Given the description of an element on the screen output the (x, y) to click on. 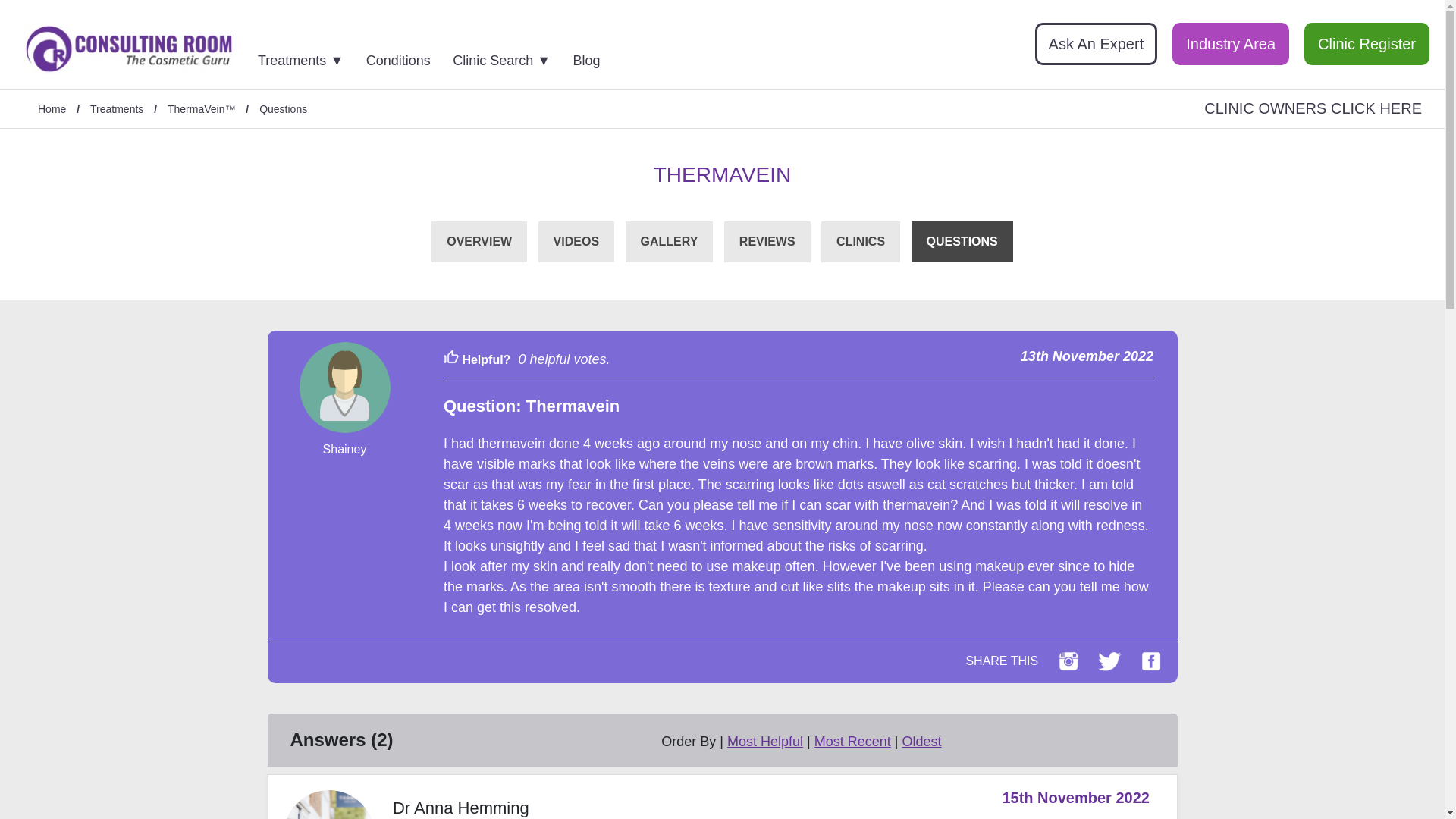
CLINICS (860, 241)
OVERVIEW (478, 241)
Treatments (116, 110)
QUESTIONS (962, 241)
Consulting Room Home (128, 49)
Industry Area (1230, 43)
Clinic Register (1366, 43)
Consulting Room Logo (128, 48)
VIDEOS (576, 241)
Conditions (407, 56)
GALLERY (669, 241)
Ask An Expert (1096, 43)
Home (51, 110)
REVIEWS (766, 241)
Conditions (407, 56)
